Given the description of an element on the screen output the (x, y) to click on. 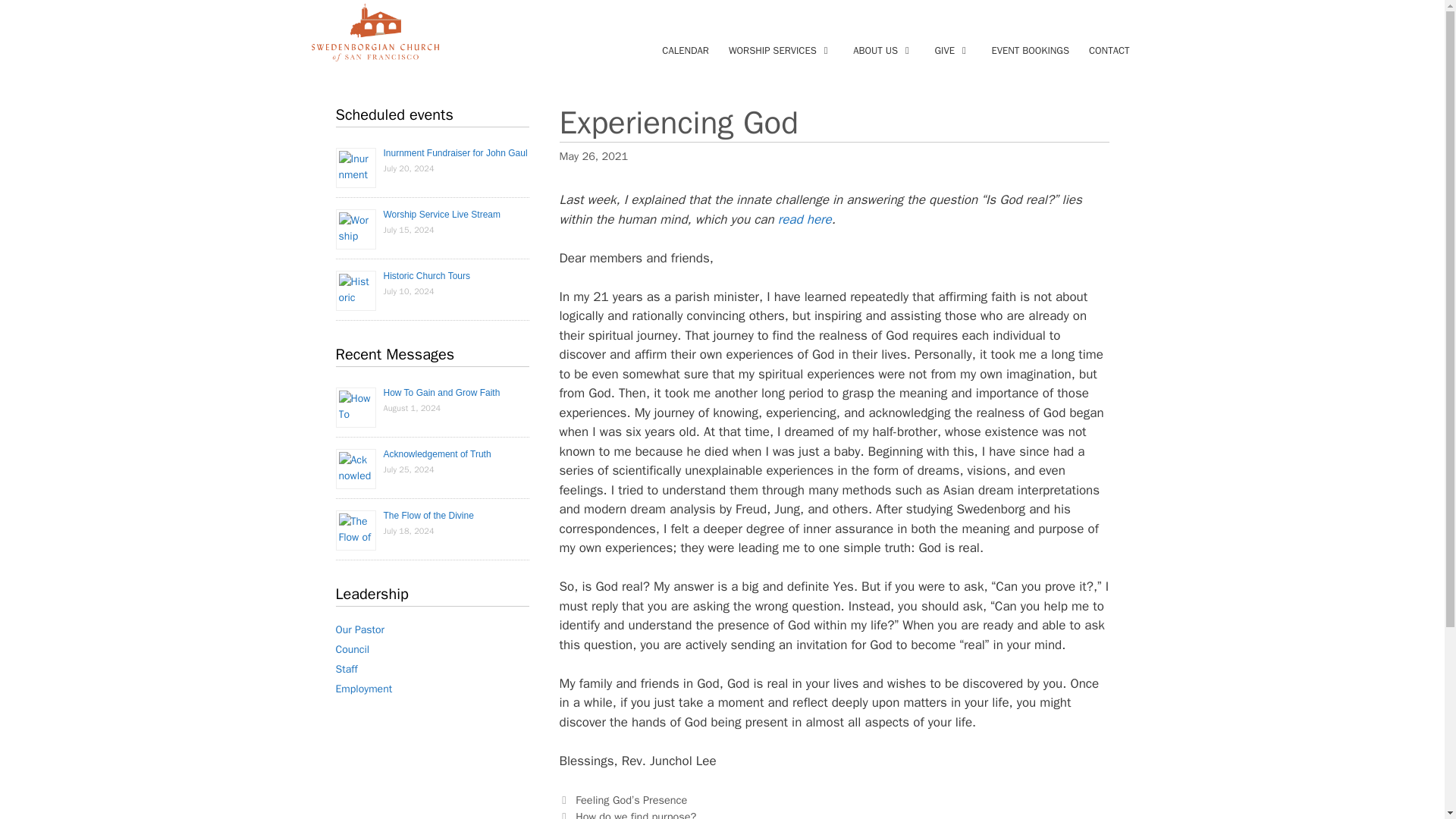
WORSHIP SERVICES (781, 50)
GIVE (952, 50)
CALENDAR (685, 50)
CONTACT (1109, 50)
ABOUT US (883, 50)
EVENT BOOKINGS (1029, 50)
